Given the description of an element on the screen output the (x, y) to click on. 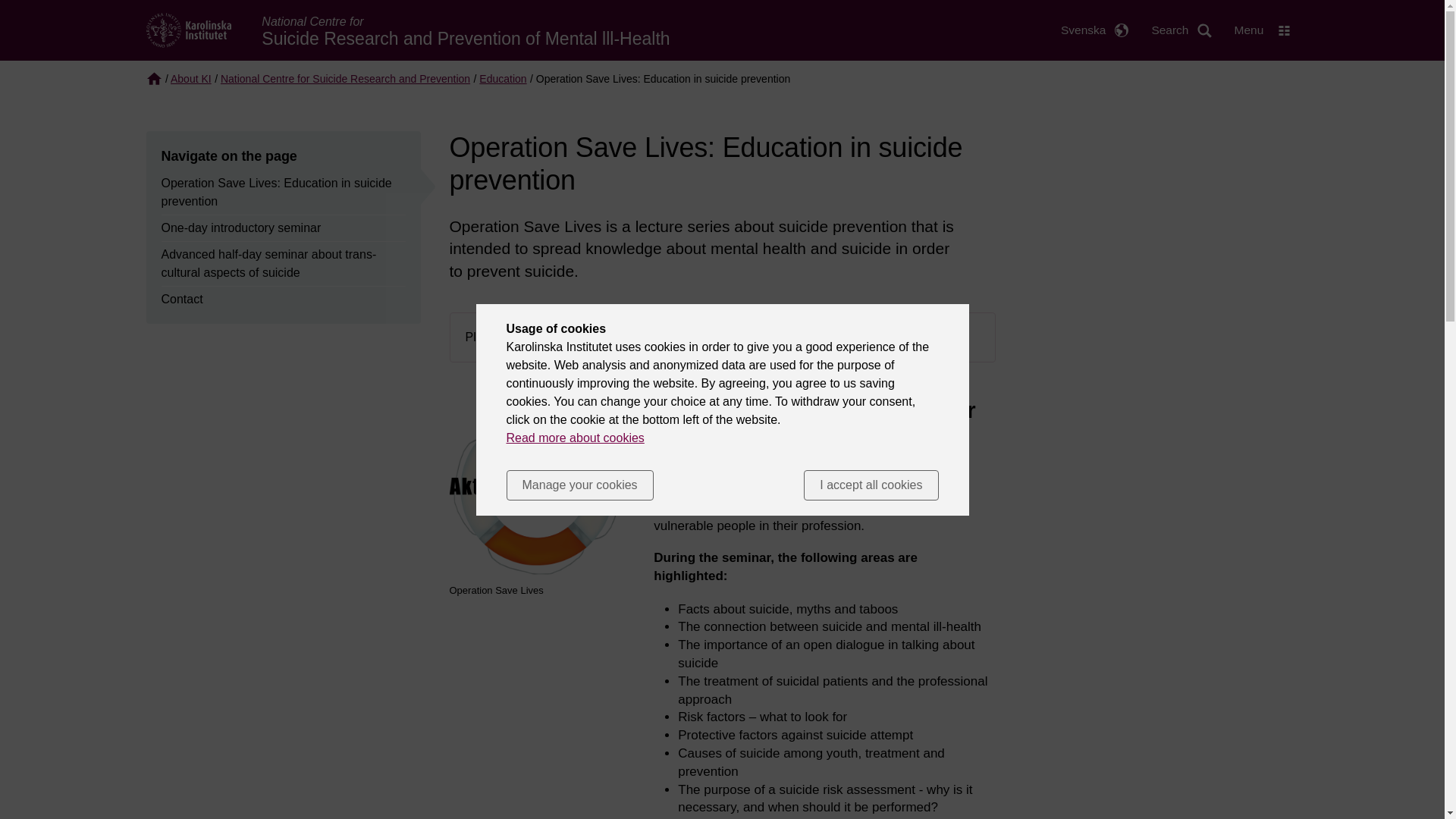
About KI (190, 78)
Contact (181, 299)
Operation Save Lives: Education in suicide prevention (283, 192)
National Centre for Suicide Research and Prevention (345, 78)
Education (502, 78)
Home (188, 29)
One-day introductory seminar (240, 228)
